Given the description of an element on the screen output the (x, y) to click on. 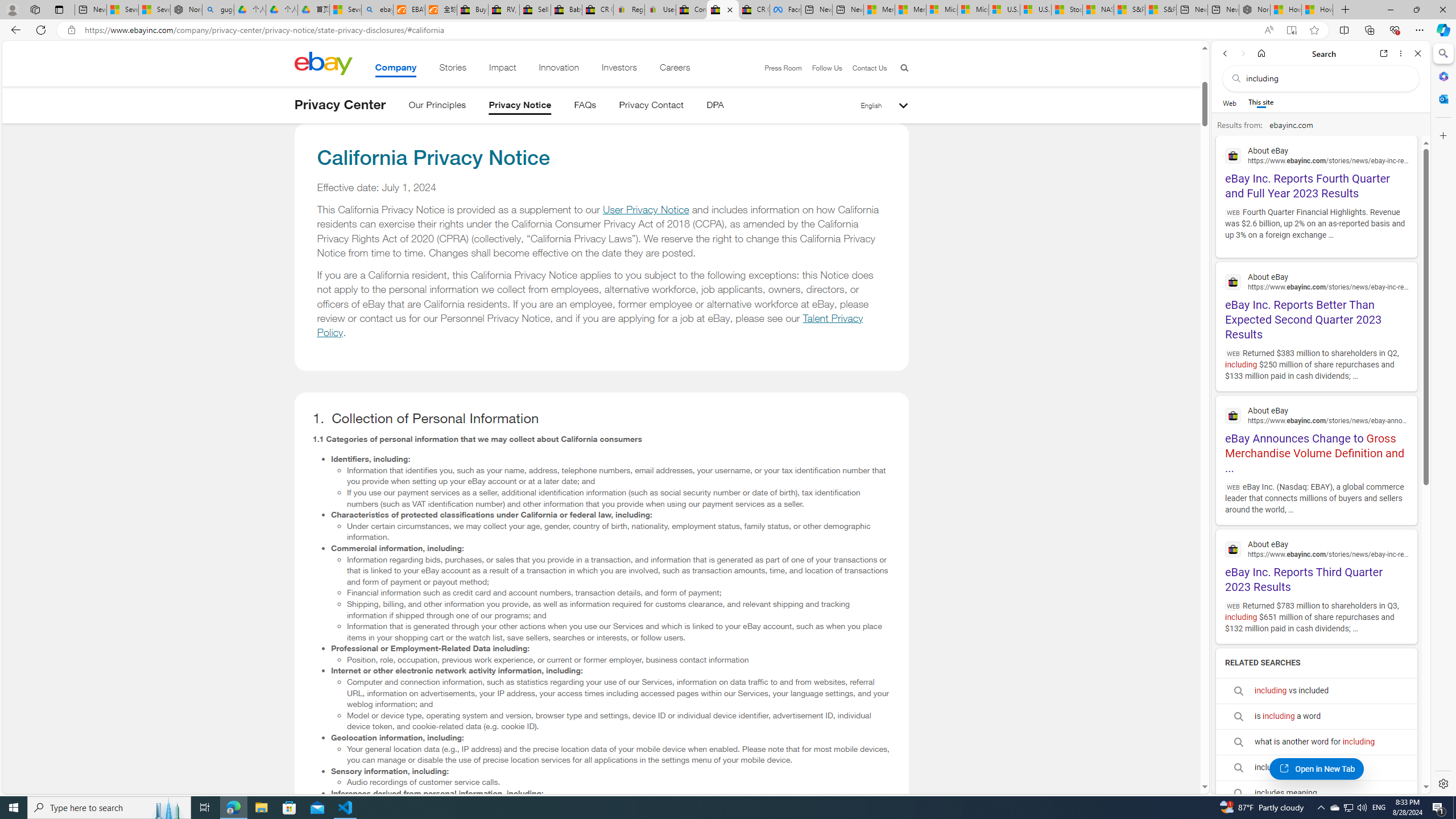
Search the web (1326, 78)
includes meaning (1315, 792)
Talent Privacy Policy (590, 325)
including vs included (1315, 690)
